Given the description of an element on the screen output the (x, y) to click on. 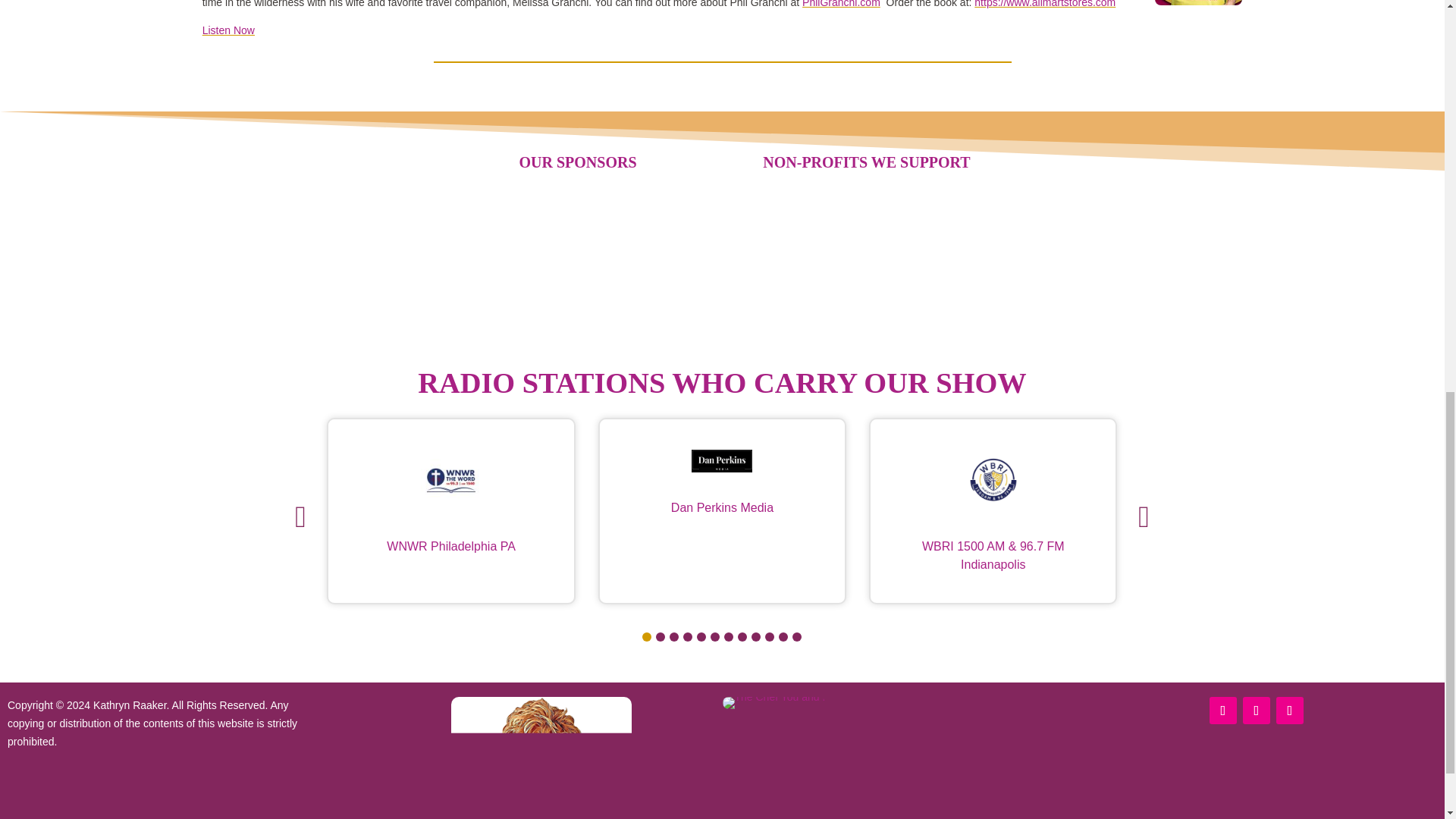
The Chef You and I (773, 702)
Follow on Facebook (1222, 709)
Follow on LinkedIn (1256, 709)
PhilGranchi.com (841, 4)
Kathryn Raaker's World (541, 757)
Listen Now (228, 30)
Follow on X (1289, 709)
